Given the description of an element on the screen output the (x, y) to click on. 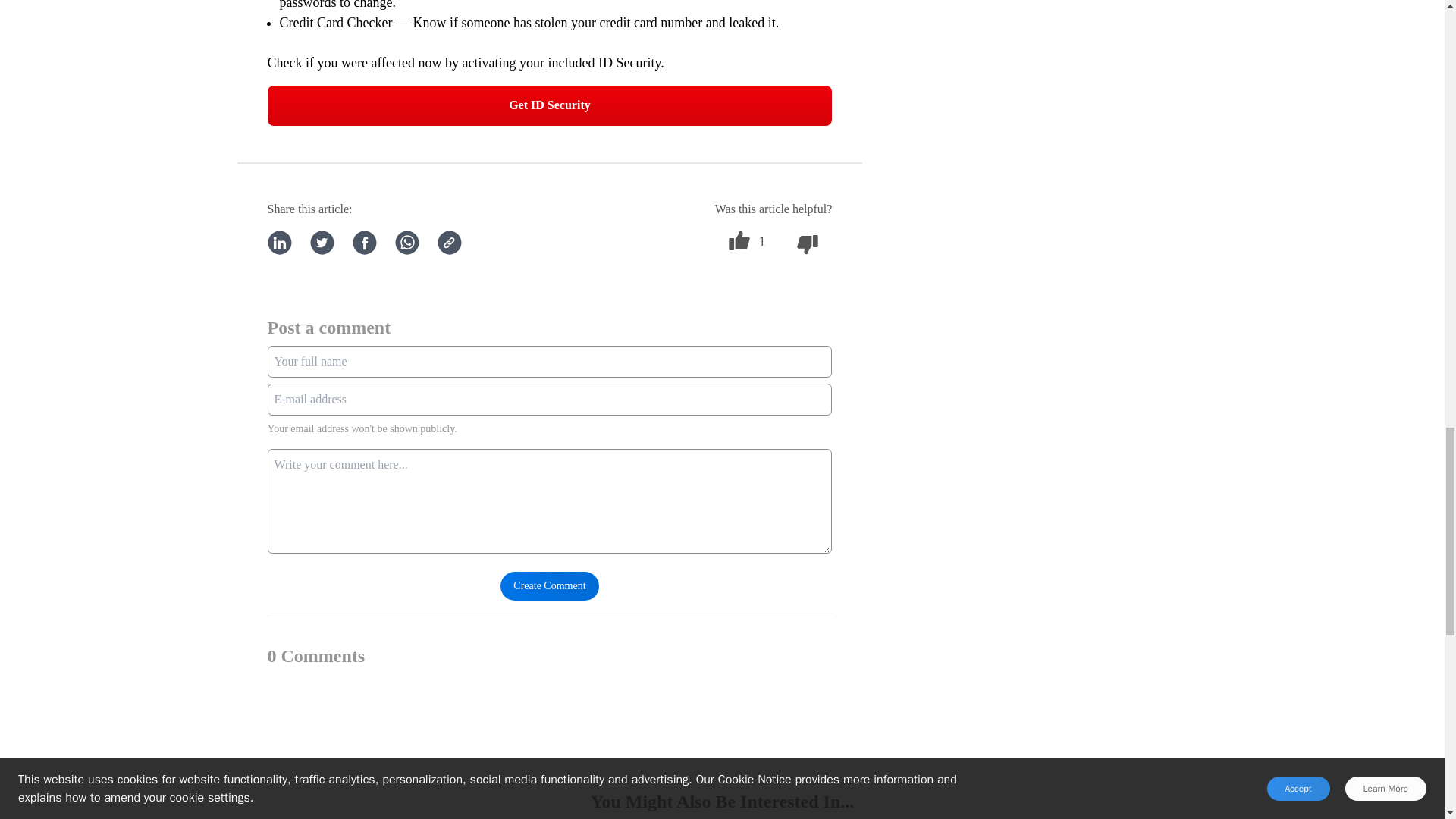
Share to WhatsApp (406, 242)
Share to LinkedIn (278, 242)
Share to Twitter (320, 242)
Share to Facebook (363, 242)
